Given the description of an element on the screen output the (x, y) to click on. 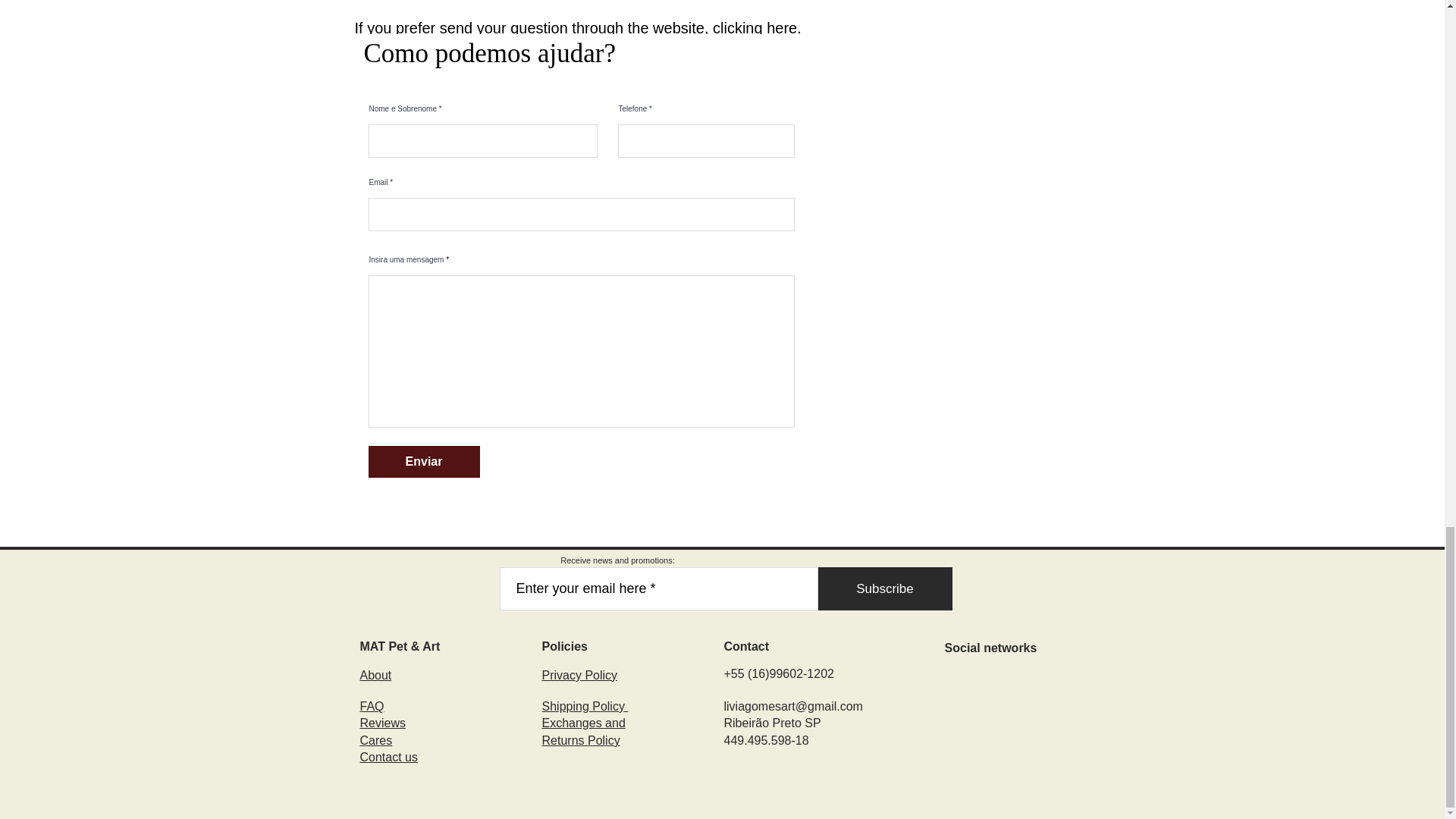
Subscribe (884, 588)
Privacy Policy (579, 675)
About (375, 675)
Cares (375, 739)
Shipping Policy  (584, 706)
Reviews (381, 722)
Enviar (424, 461)
Exchanges and Returns  (582, 731)
FAQ (371, 706)
Contact us (387, 757)
